Given the description of an element on the screen output the (x, y) to click on. 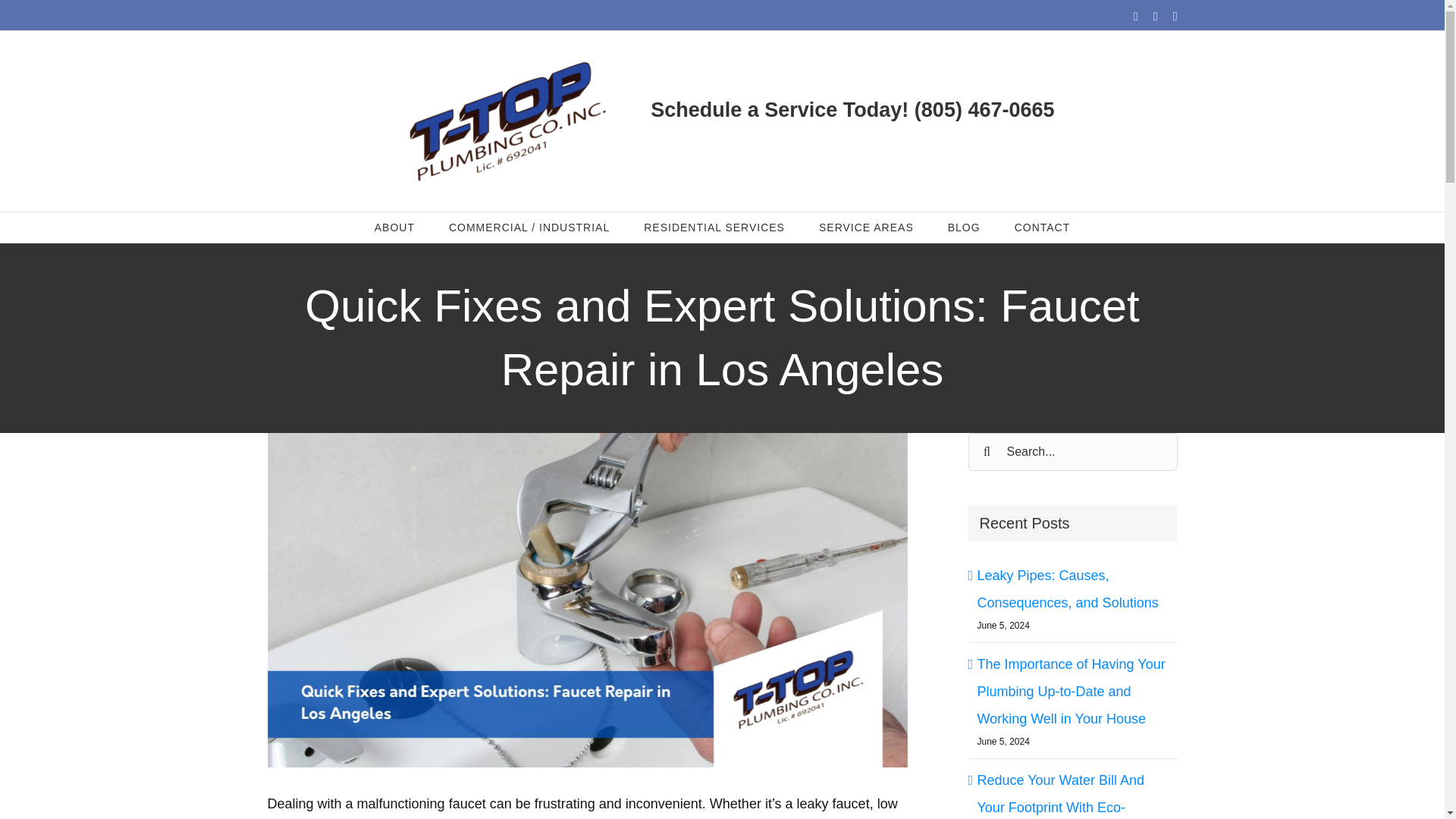
RESIDENTIAL SERVICES (713, 227)
SERVICE AREAS (866, 227)
ABOUT (394, 227)
